Given the description of an element on the screen output the (x, y) to click on. 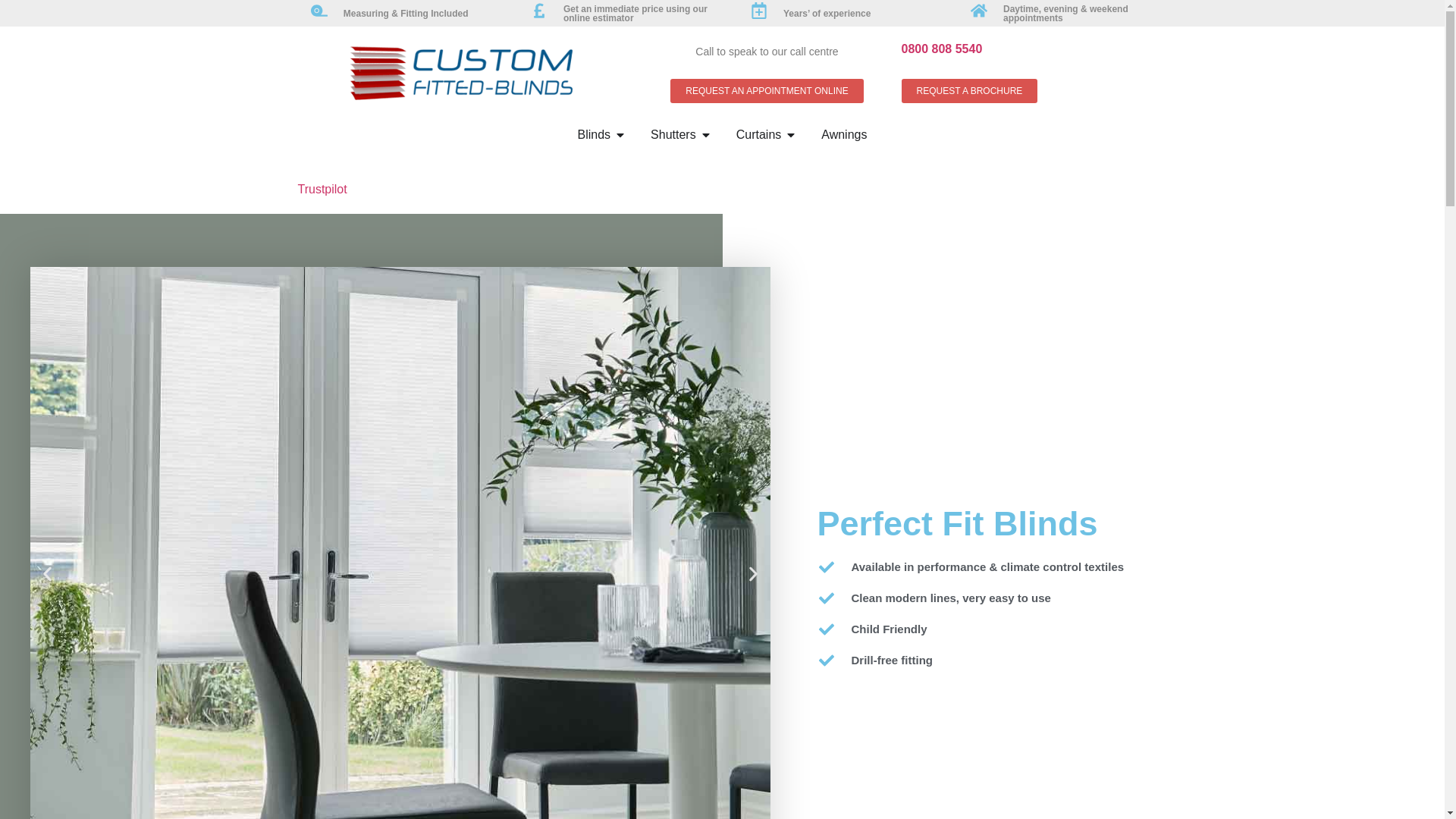
REQUEST AN APPOINTMENT ONLINE (766, 90)
0800 808 5540 (941, 48)
Awnings (843, 135)
REQUEST A BROCHURE (968, 90)
